Given the description of an element on the screen output the (x, y) to click on. 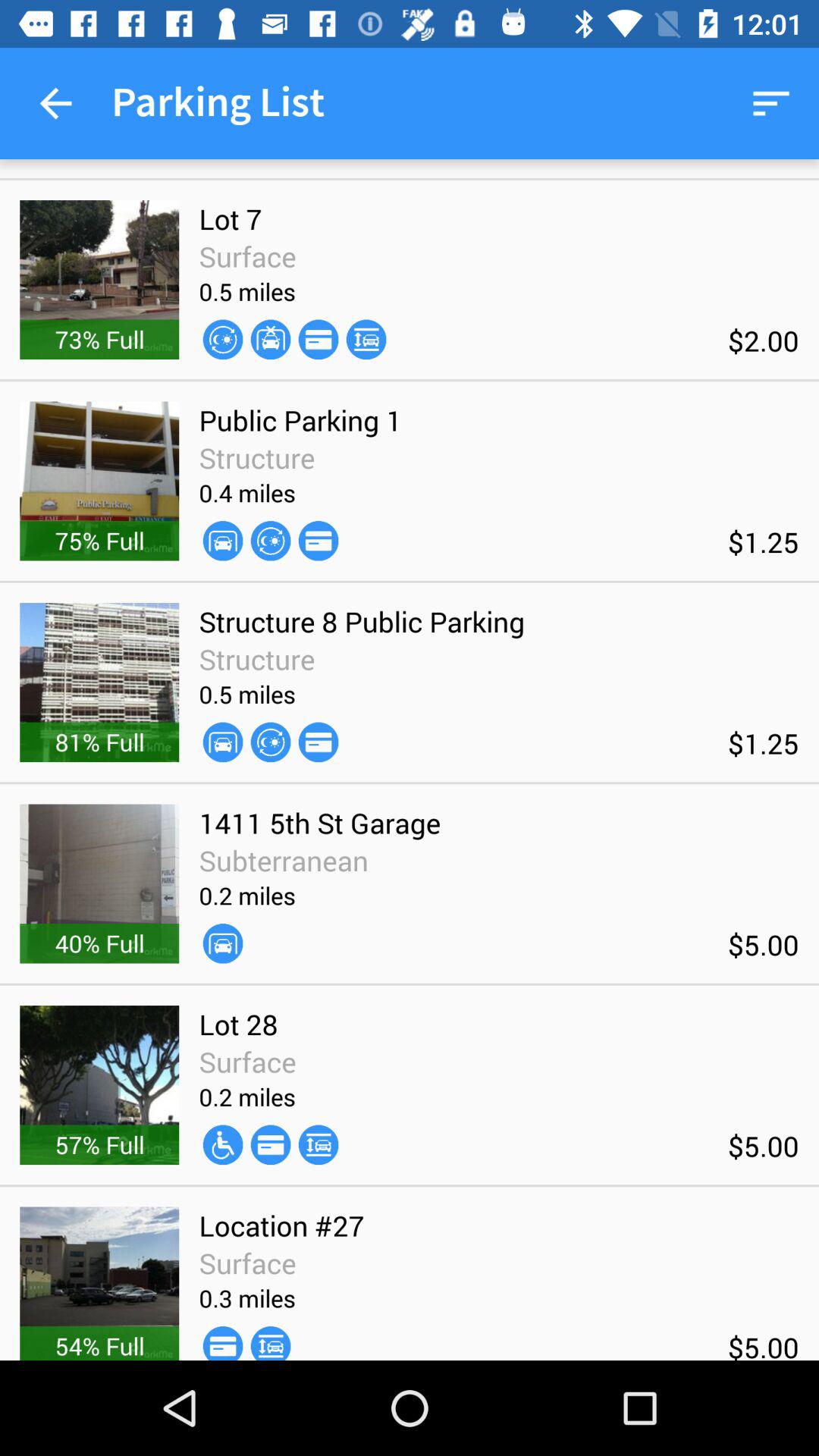
press item to the right of the 0.5 miles icon (318, 742)
